Given the description of an element on the screen output the (x, y) to click on. 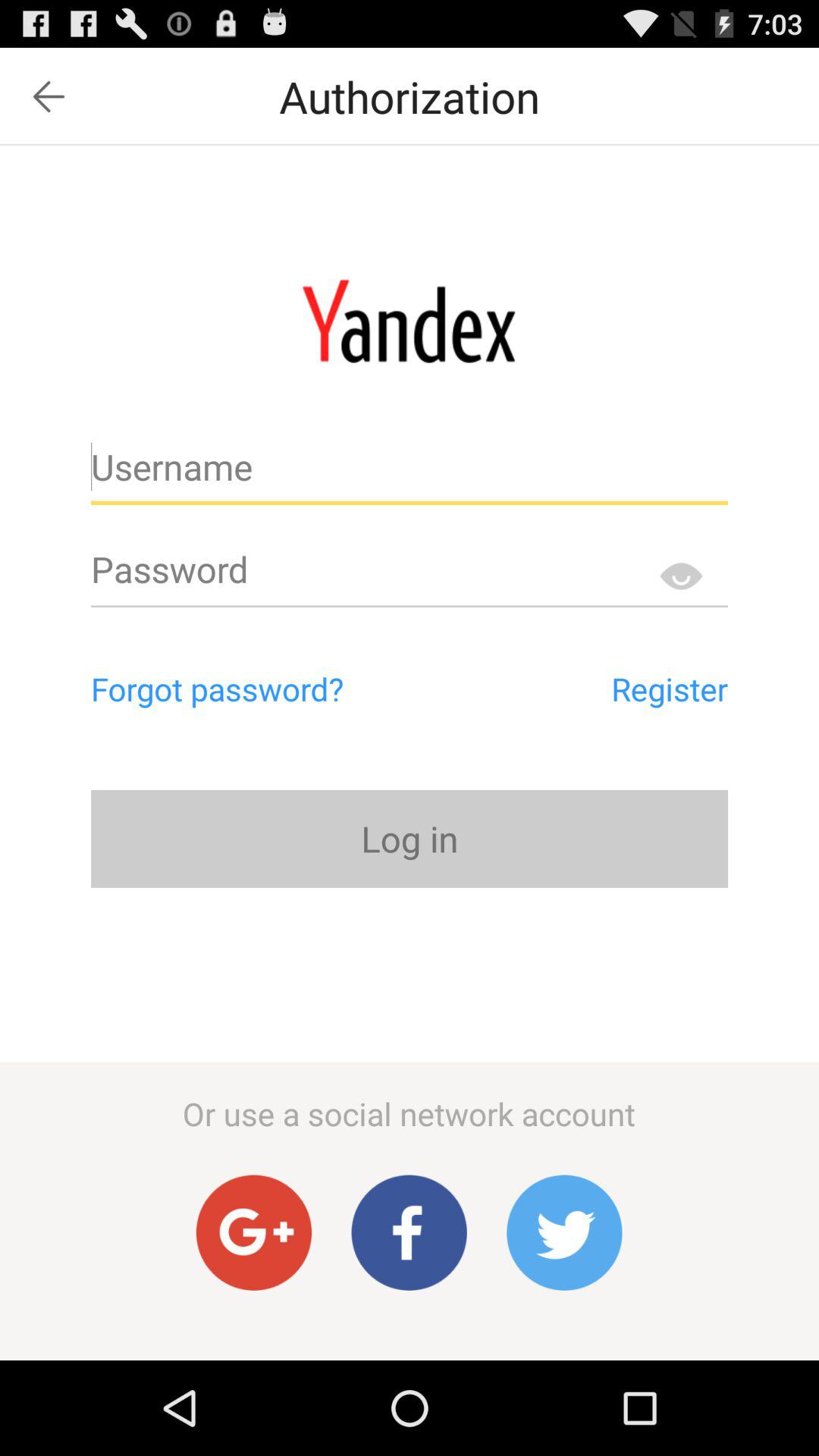
launch item above the log in button (600, 688)
